Given the description of an element on the screen output the (x, y) to click on. 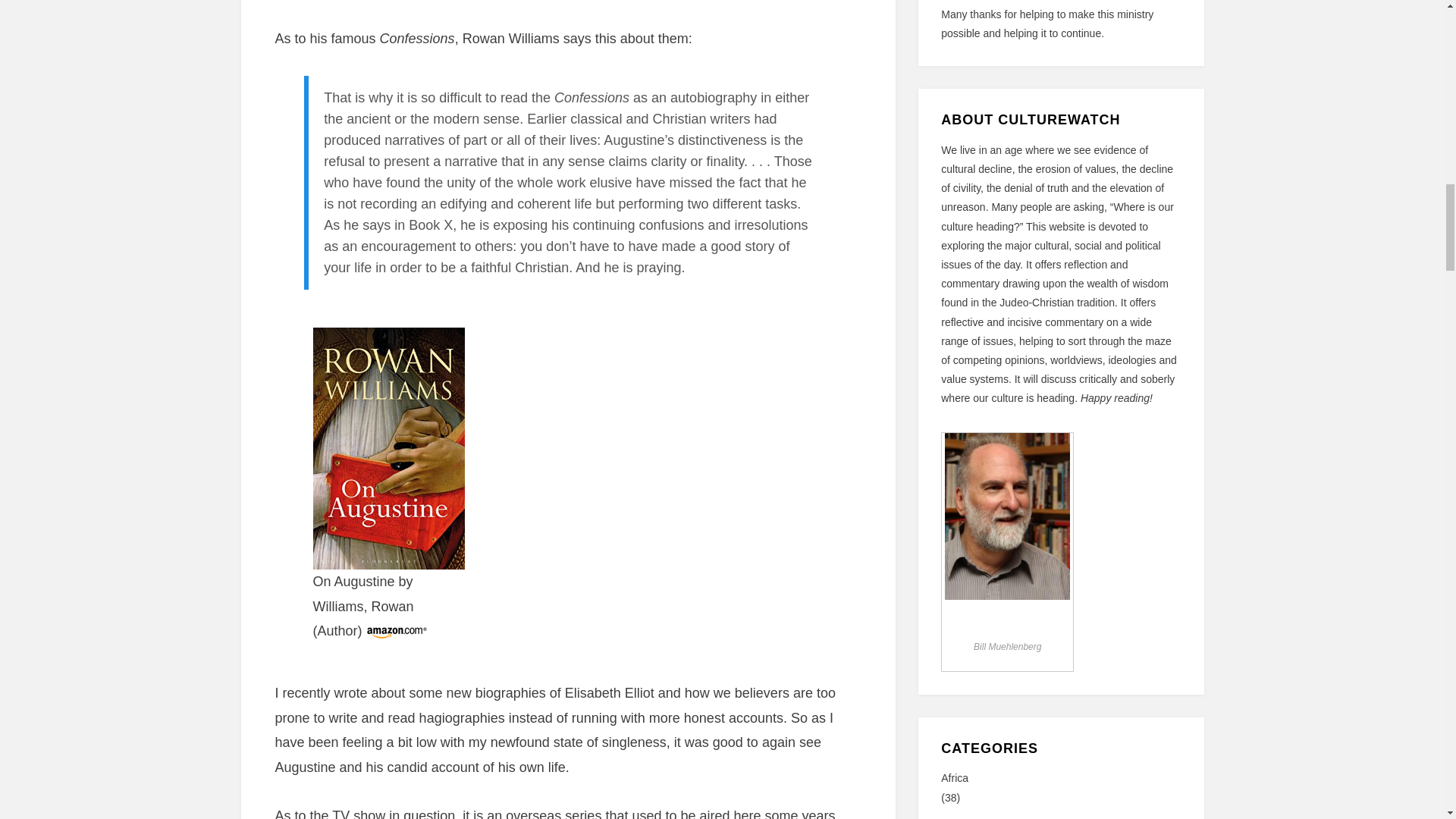
Click here to purchase from Amazon... (396, 631)
